Given the description of an element on the screen output the (x, y) to click on. 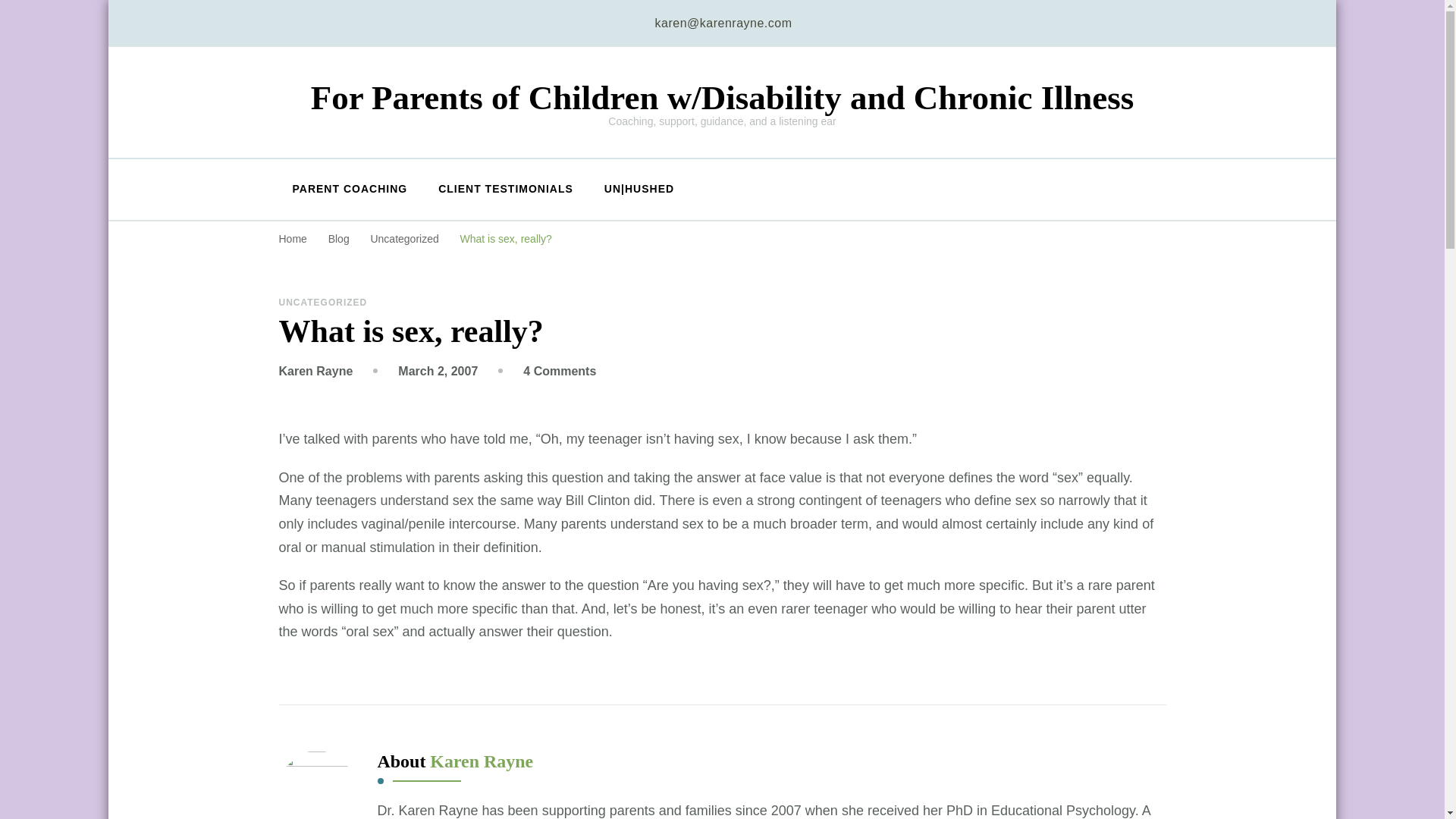
CLIENT TESTIMONIALS (505, 189)
Home (293, 238)
March 2, 2007 (558, 370)
Blog (437, 370)
Karen Rayne (340, 238)
Uncategorized (316, 370)
What is sex, really? (405, 238)
UNCATEGORIZED (505, 238)
PARENT COACHING (323, 302)
